Given the description of an element on the screen output the (x, y) to click on. 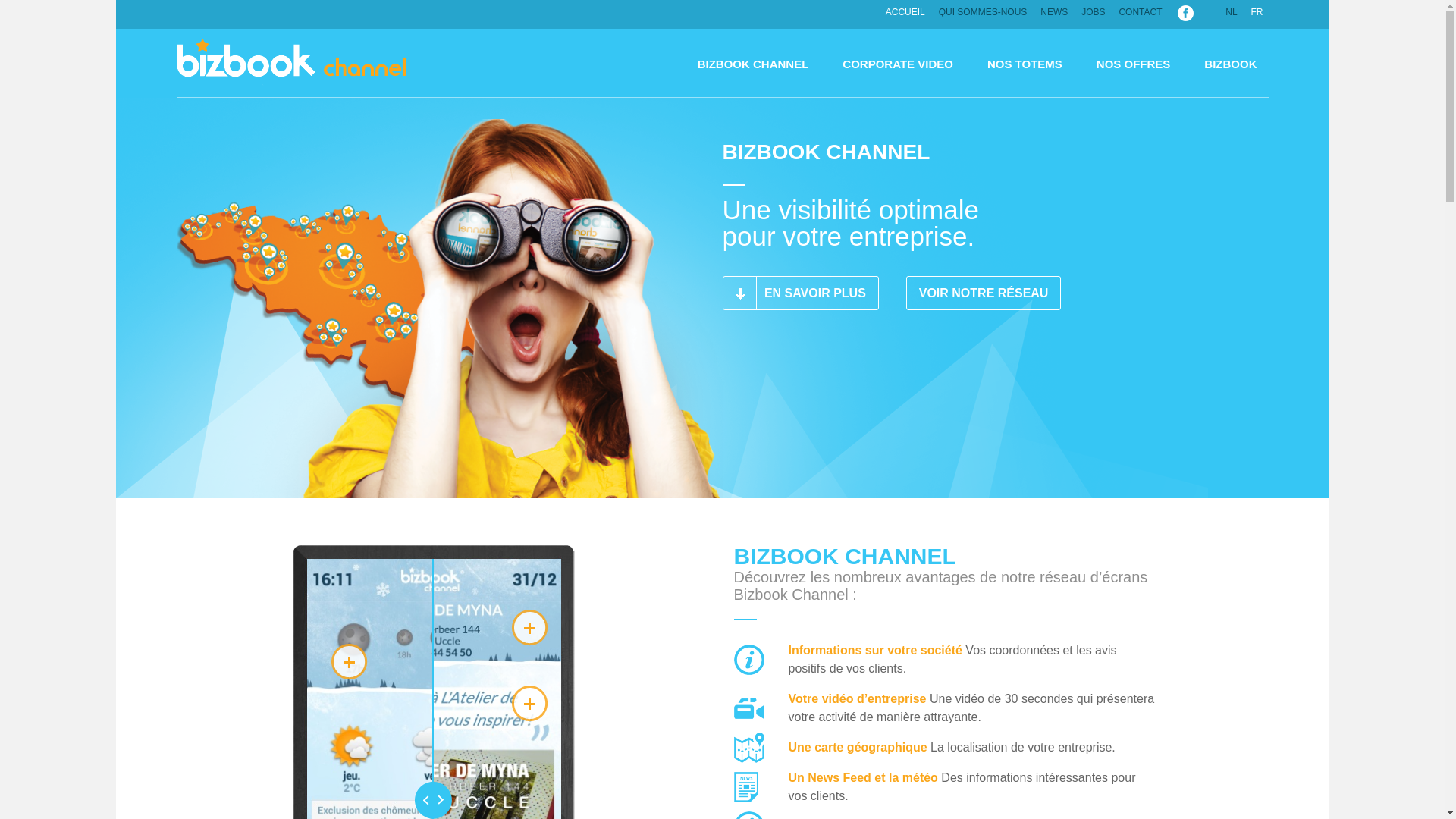
NL Element type: text (1230, 11)
FR Element type: text (1257, 11)
CORPORATE VIDEO Element type: text (897, 63)
QUI SOMMES-NOUS Element type: text (982, 11)
JOBS Element type: text (1092, 11)
NOS TOTEMS Element type: text (1024, 63)
NEWS Element type: text (1053, 11)
Skip to main content Element type: text (163, 0)
NOS OFFRES Element type: text (1133, 63)
BIZBOOK CHANNEL Element type: text (290, 62)
EN SAVOIR PLUS Element type: text (799, 293)
ACCUEIL Element type: text (905, 11)
BIZBOOK Element type: text (1229, 63)
BIZBOOK CHANNEL Element type: text (753, 63)
CONTACT Element type: text (1139, 11)
